Given the description of an element on the screen output the (x, y) to click on. 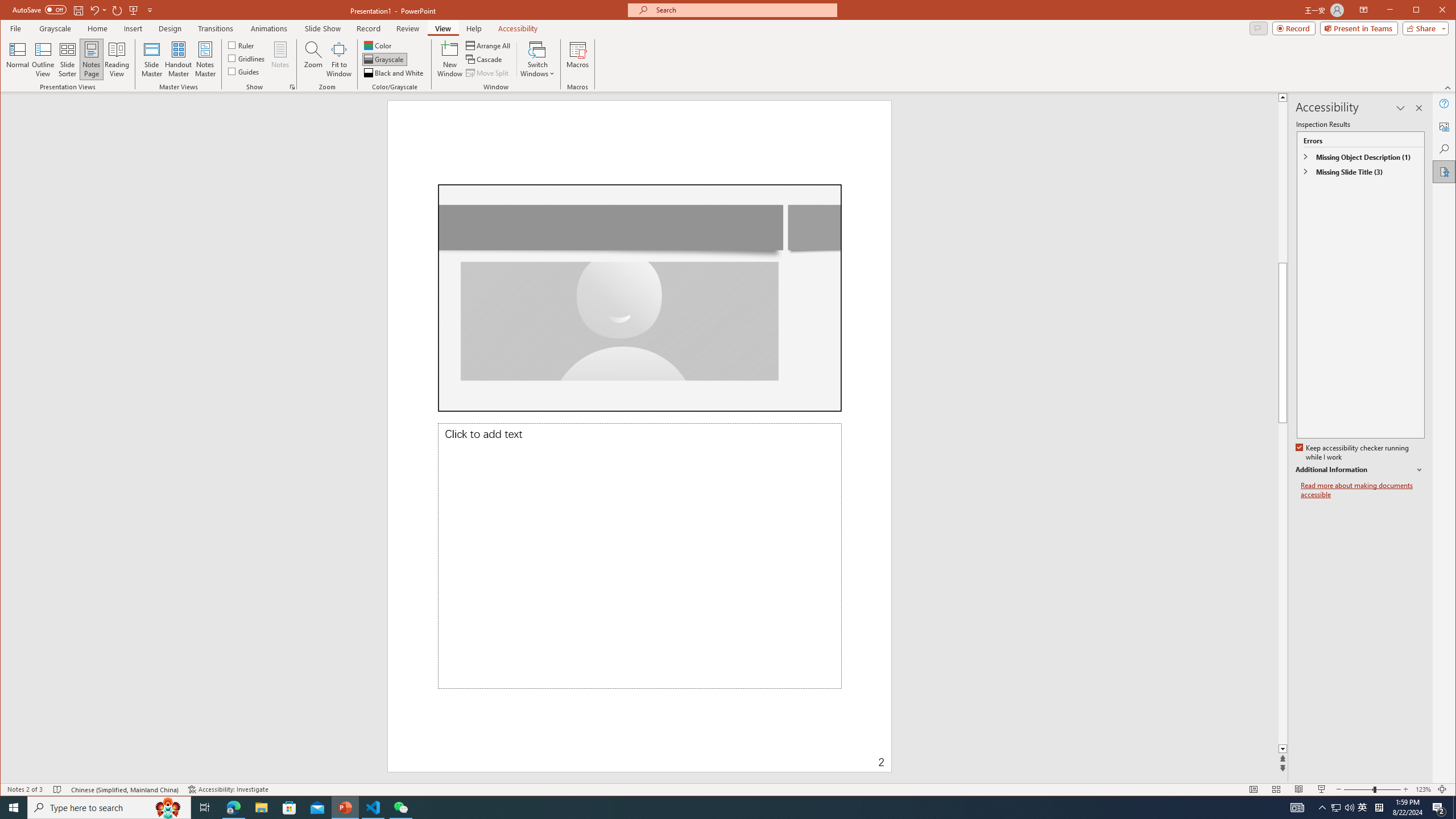
Microsoft search (742, 10)
Slide Master (151, 59)
Notification Chevron (1322, 807)
Arrange All (488, 45)
Zoom 123% (1422, 789)
Slide Notes (639, 555)
File Explorer (261, 807)
